Given the description of an element on the screen output the (x, y) to click on. 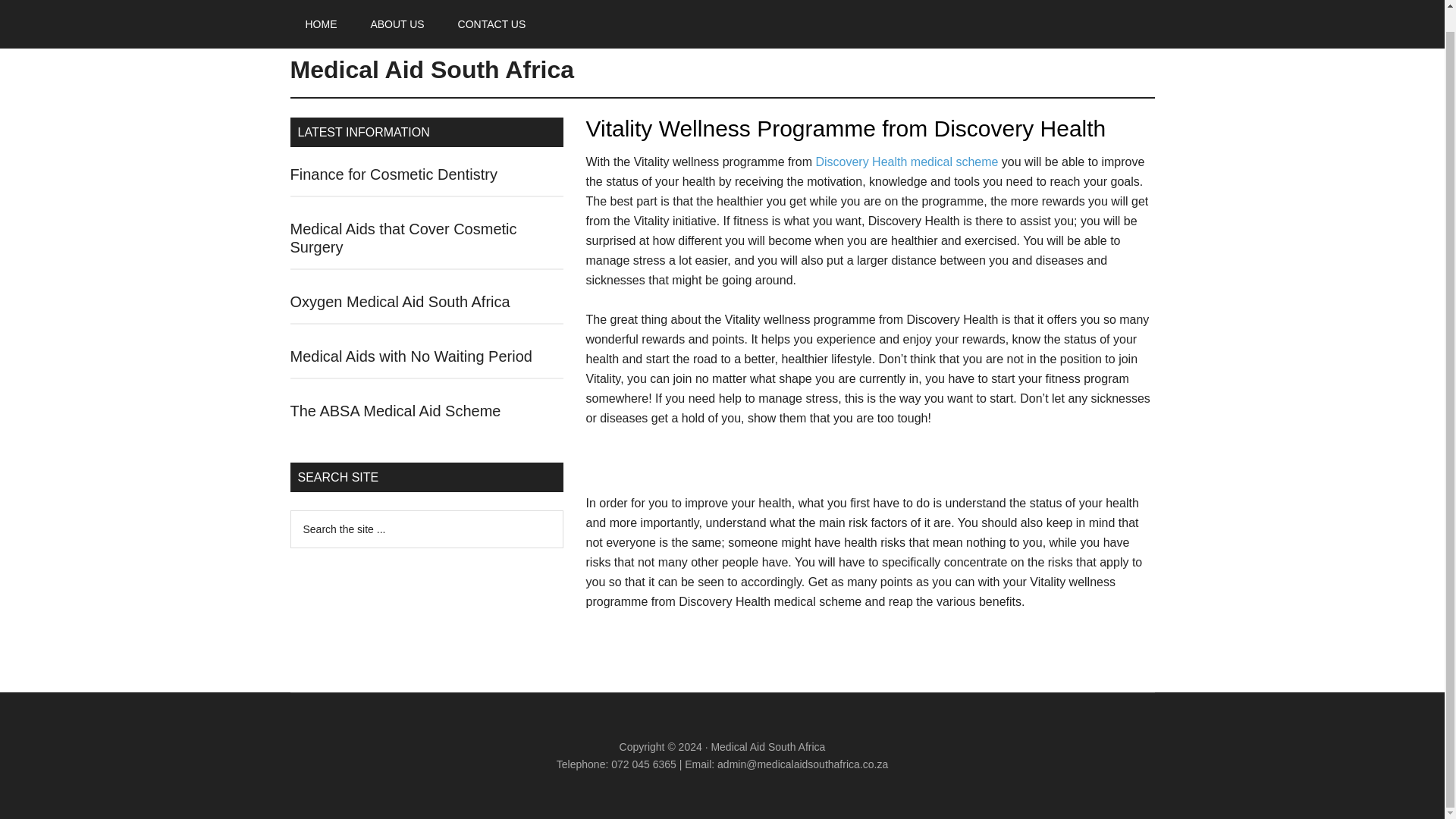
The ABSA Medical Aid Scheme (394, 410)
Oxygen Medical Aid South Africa (399, 301)
Medical Aids with No Waiting Period (410, 356)
CONTACT US (491, 13)
Discovery Health medical scheme (906, 161)
Medical Aids that Cover Cosmetic Surgery (402, 237)
ABOUT US (397, 13)
Finance for Cosmetic Dentistry (392, 174)
HOME (320, 13)
